Given the description of an element on the screen output the (x, y) to click on. 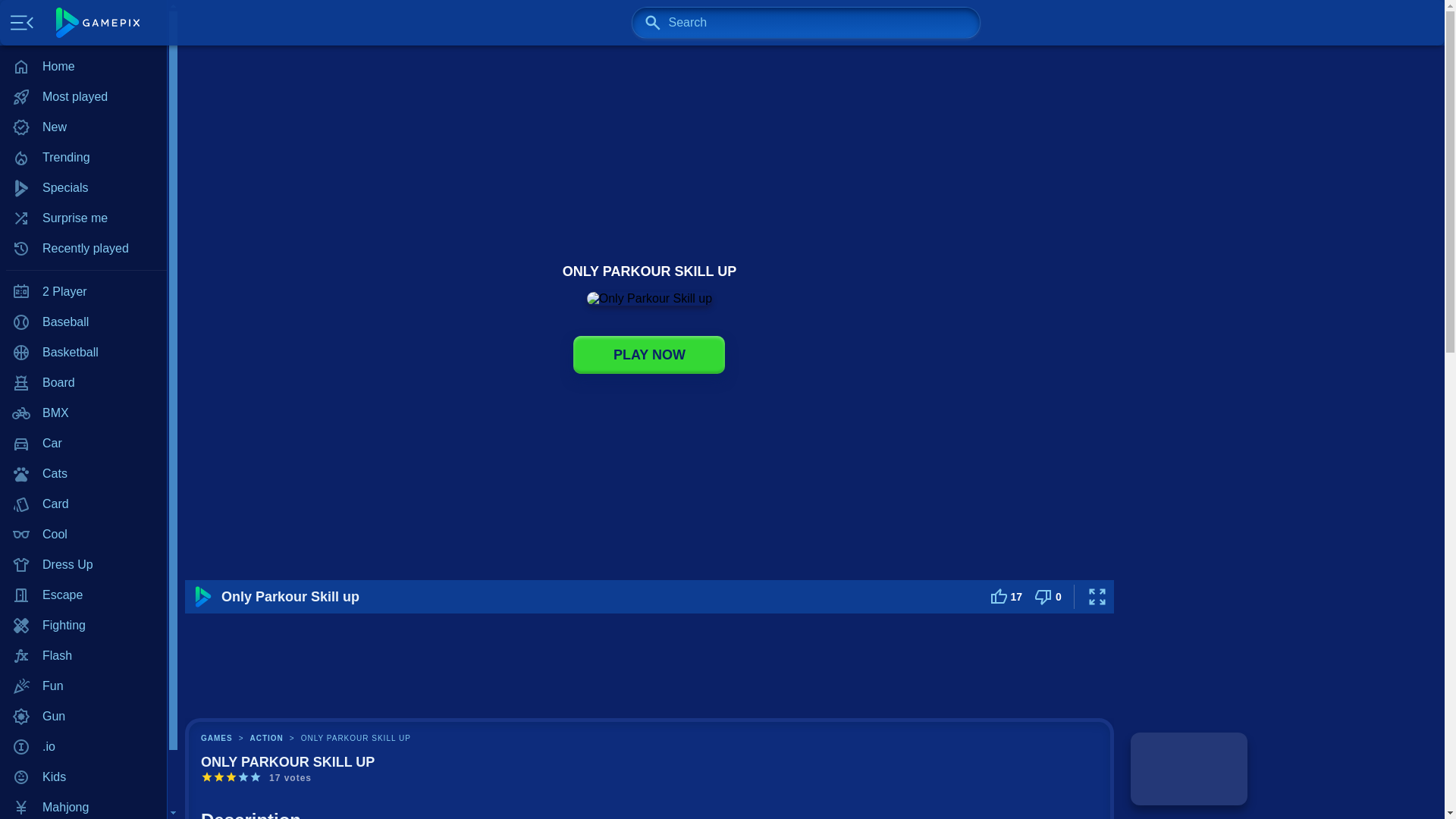
Dress Up (83, 564)
Basketball (83, 352)
Fighting (83, 625)
Cats (83, 473)
Most played (83, 96)
Home (83, 66)
Board (83, 382)
Fun (83, 685)
Cool (83, 534)
Recently played (83, 248)
